Given the description of an element on the screen output the (x, y) to click on. 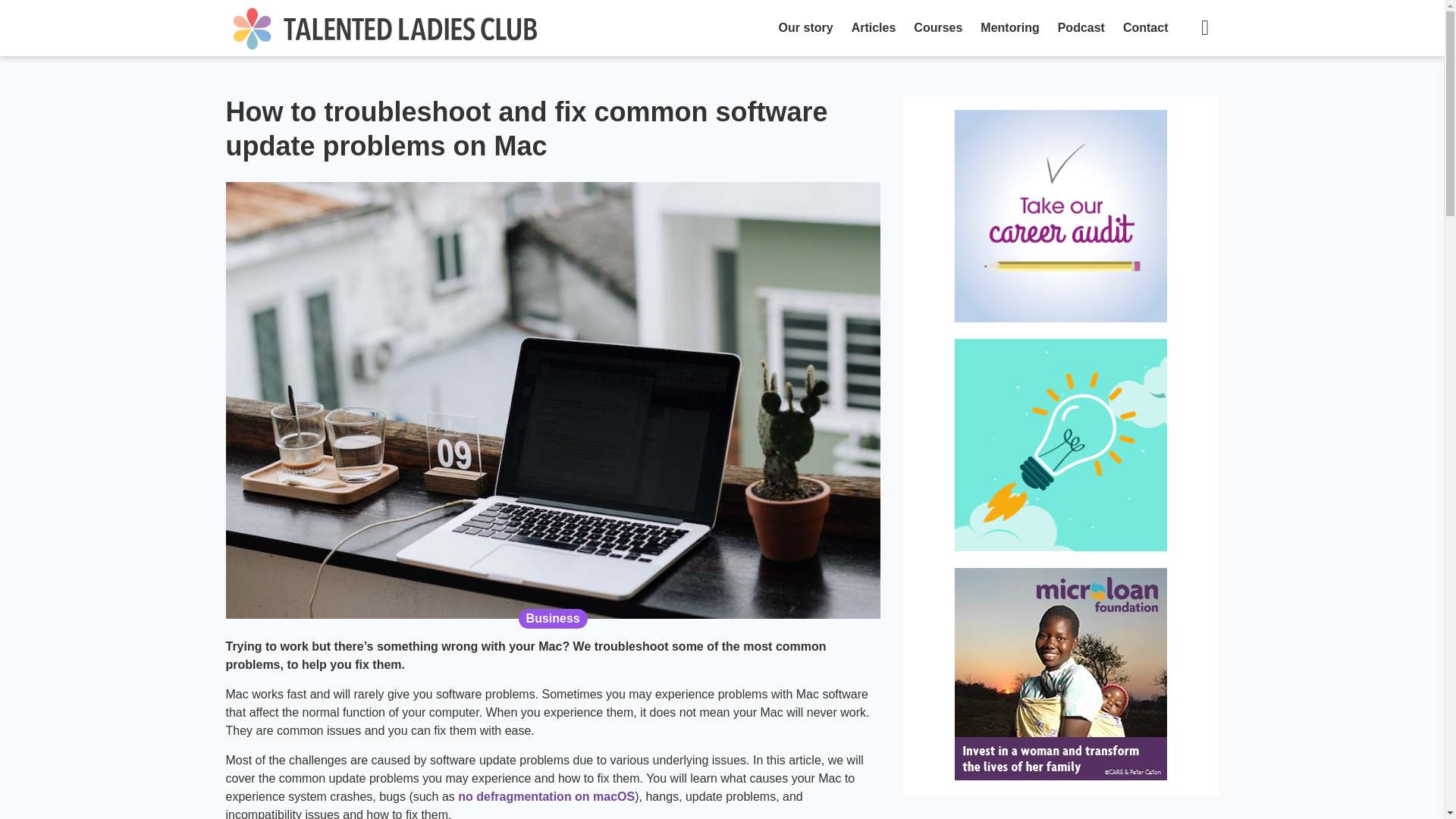
Articles (874, 28)
Mentoring (1009, 28)
Courses (937, 28)
Podcast (1080, 28)
Our story (806, 28)
Contact (1145, 28)
